Given the description of an element on the screen output the (x, y) to click on. 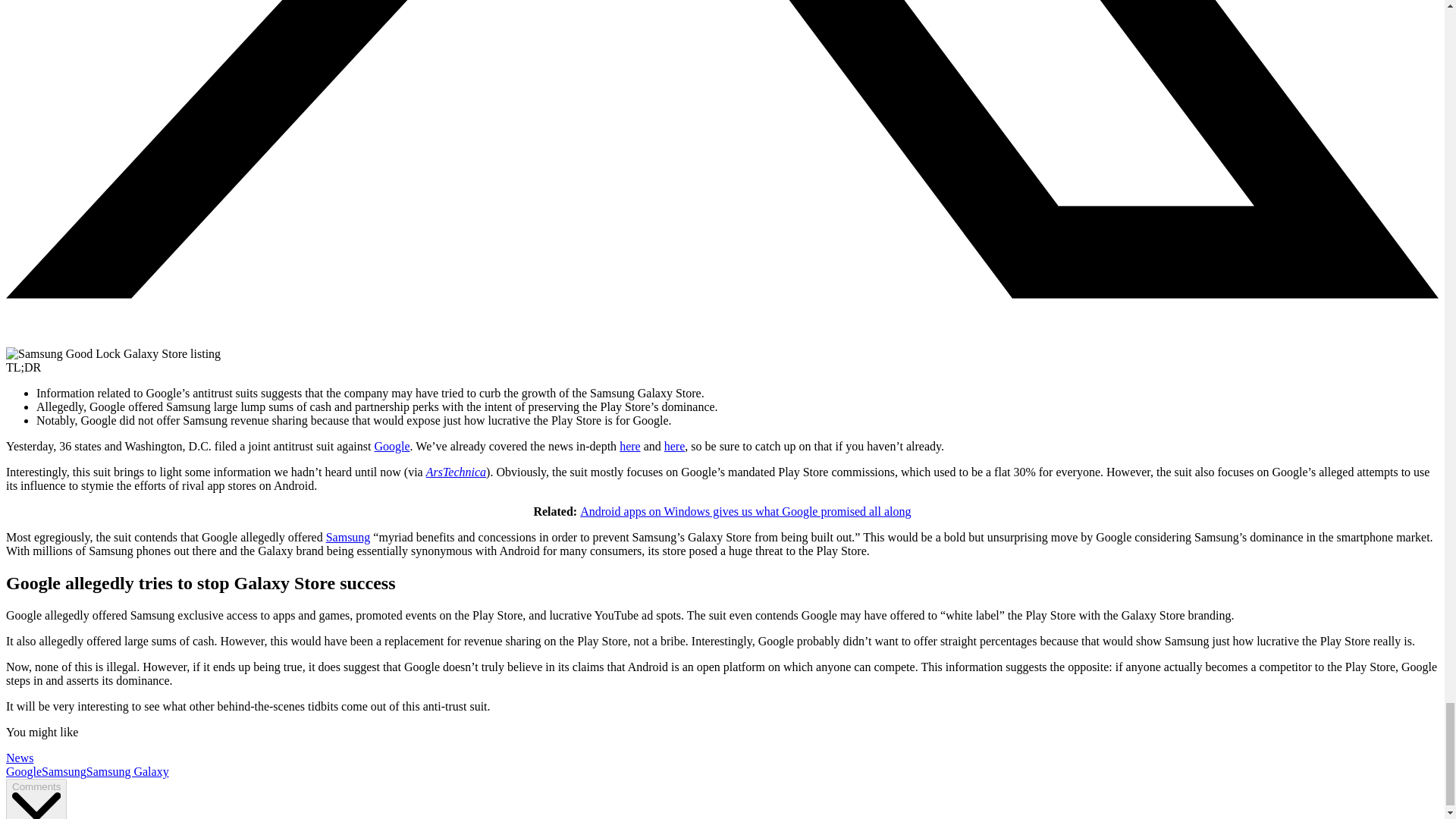
Samsung Good Lock Galaxy Store listing (113, 354)
Samsung Galaxy (126, 771)
Samsung (348, 536)
here (674, 445)
Google (391, 445)
Samsung (63, 771)
News (19, 757)
Google (23, 771)
ArsTechnica (456, 472)
